Given the description of an element on the screen output the (x, y) to click on. 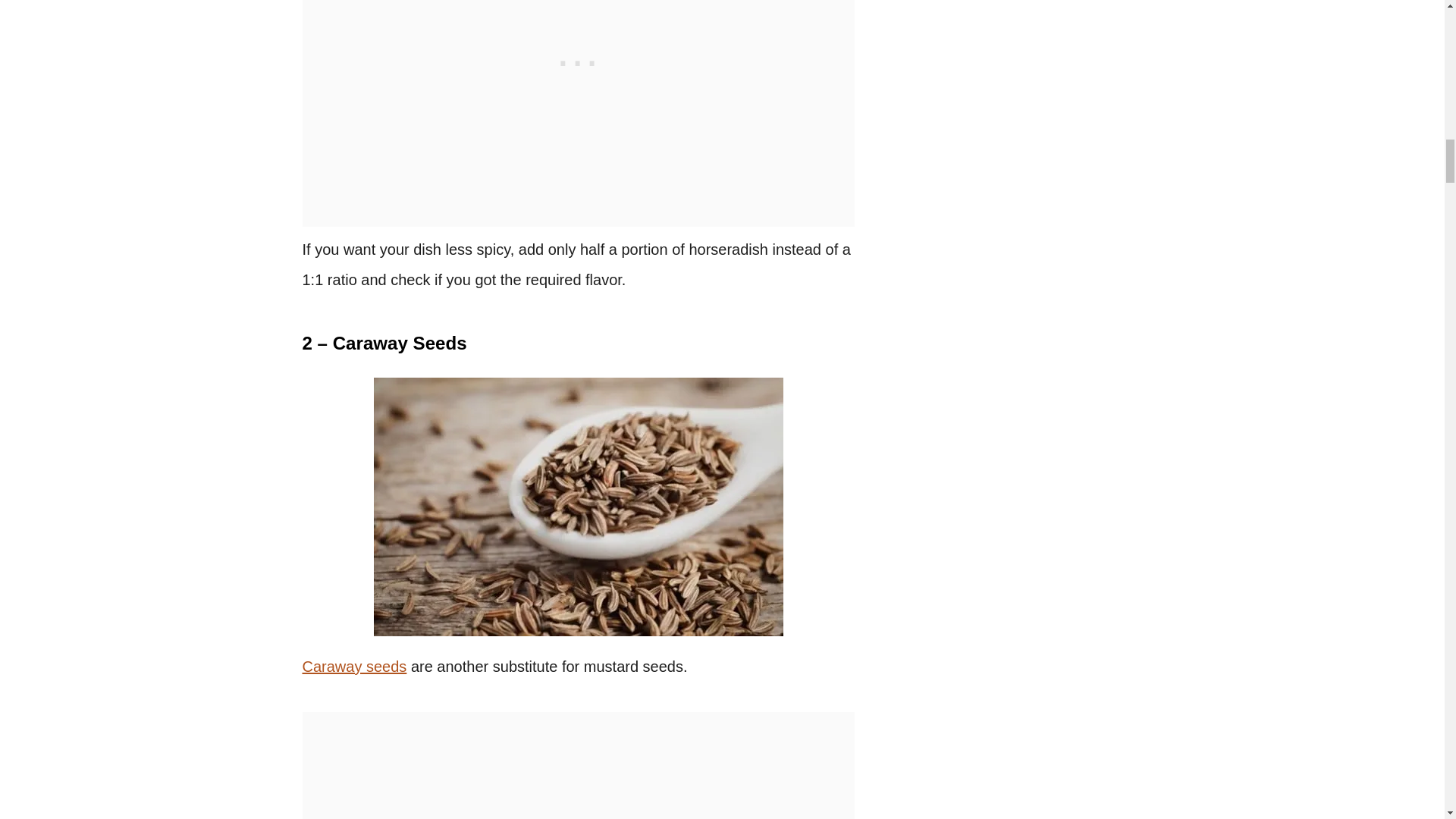
Caraway seeds (353, 666)
